Given the description of an element on the screen output the (x, y) to click on. 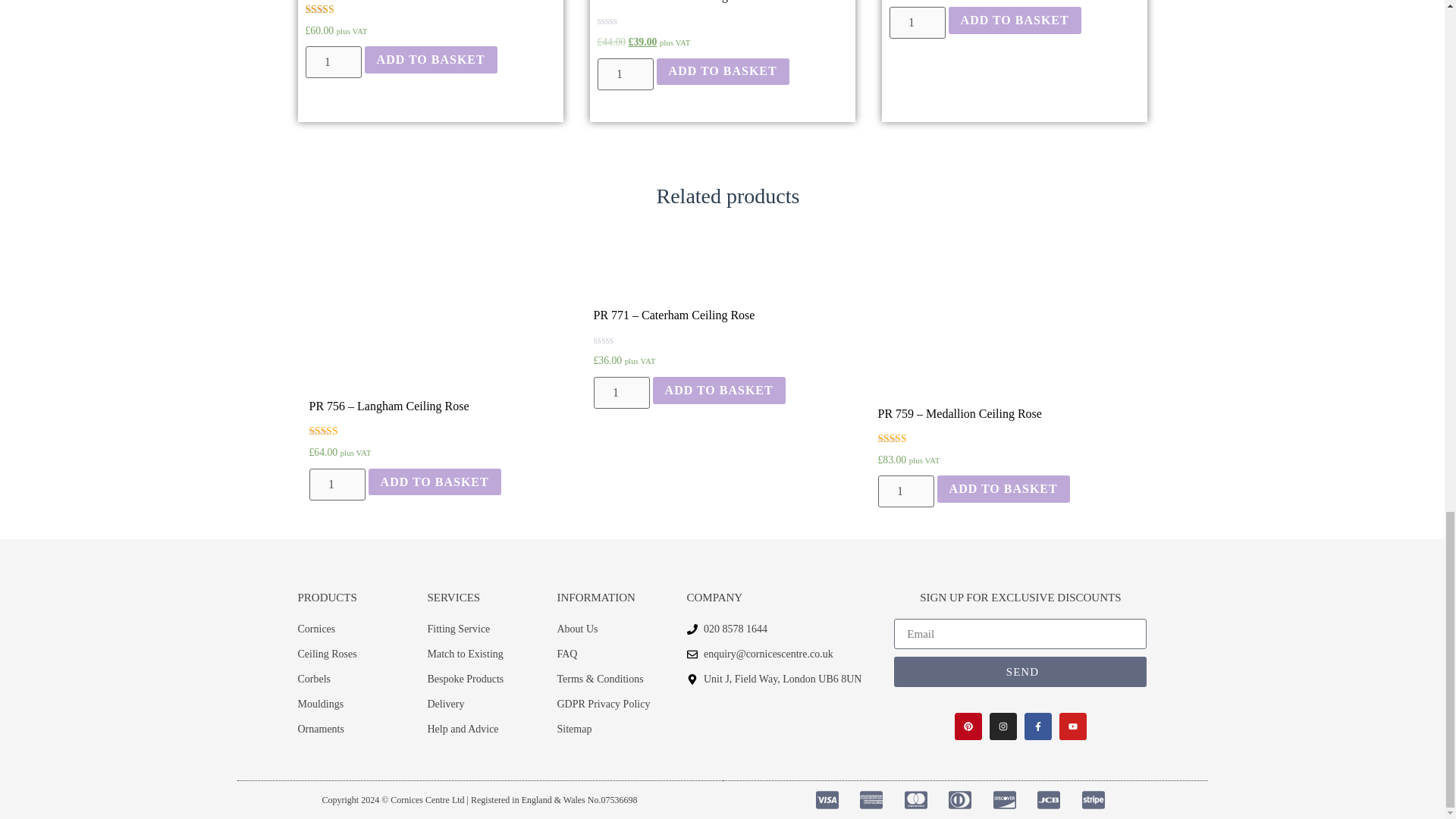
1 (905, 490)
1 (336, 484)
1 (332, 61)
1 (624, 74)
1 (620, 392)
1 (916, 22)
